Given the description of an element on the screen output the (x, y) to click on. 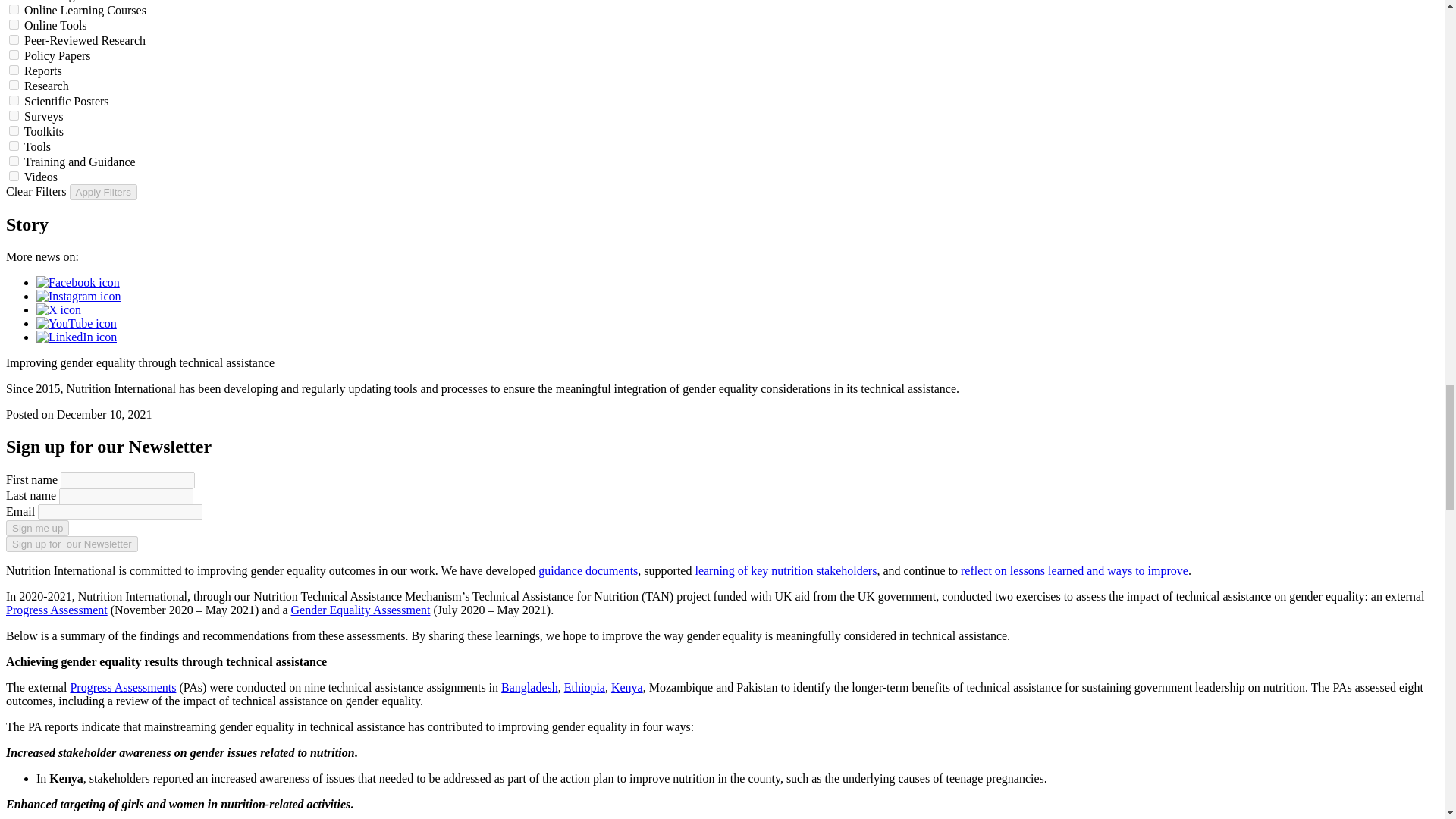
Gender Equality Assessment (360, 609)
Sign up for our Newsletter (71, 544)
guidance documents (587, 570)
Clear Filters (35, 191)
Progress Assessment (56, 609)
Ethiopia (584, 686)
Bangladesh (528, 686)
Progress Assessments (122, 686)
Sign me up (36, 528)
reflect on lessons learned and ways to improve (1074, 570)
